Given the description of an element on the screen output the (x, y) to click on. 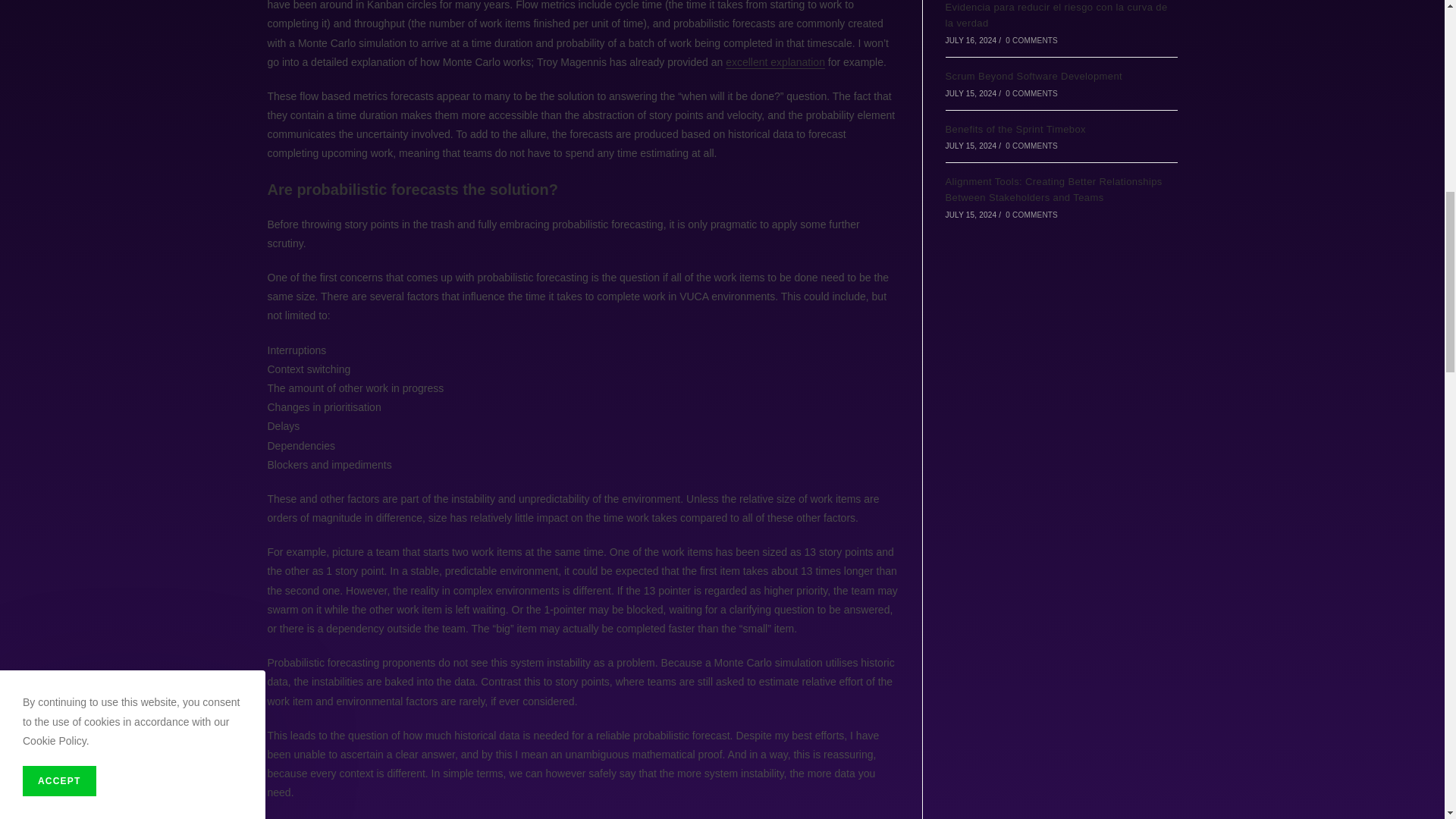
Monte Carlo Explanation (775, 61)
excellent explanation (775, 61)
